Given the description of an element on the screen output the (x, y) to click on. 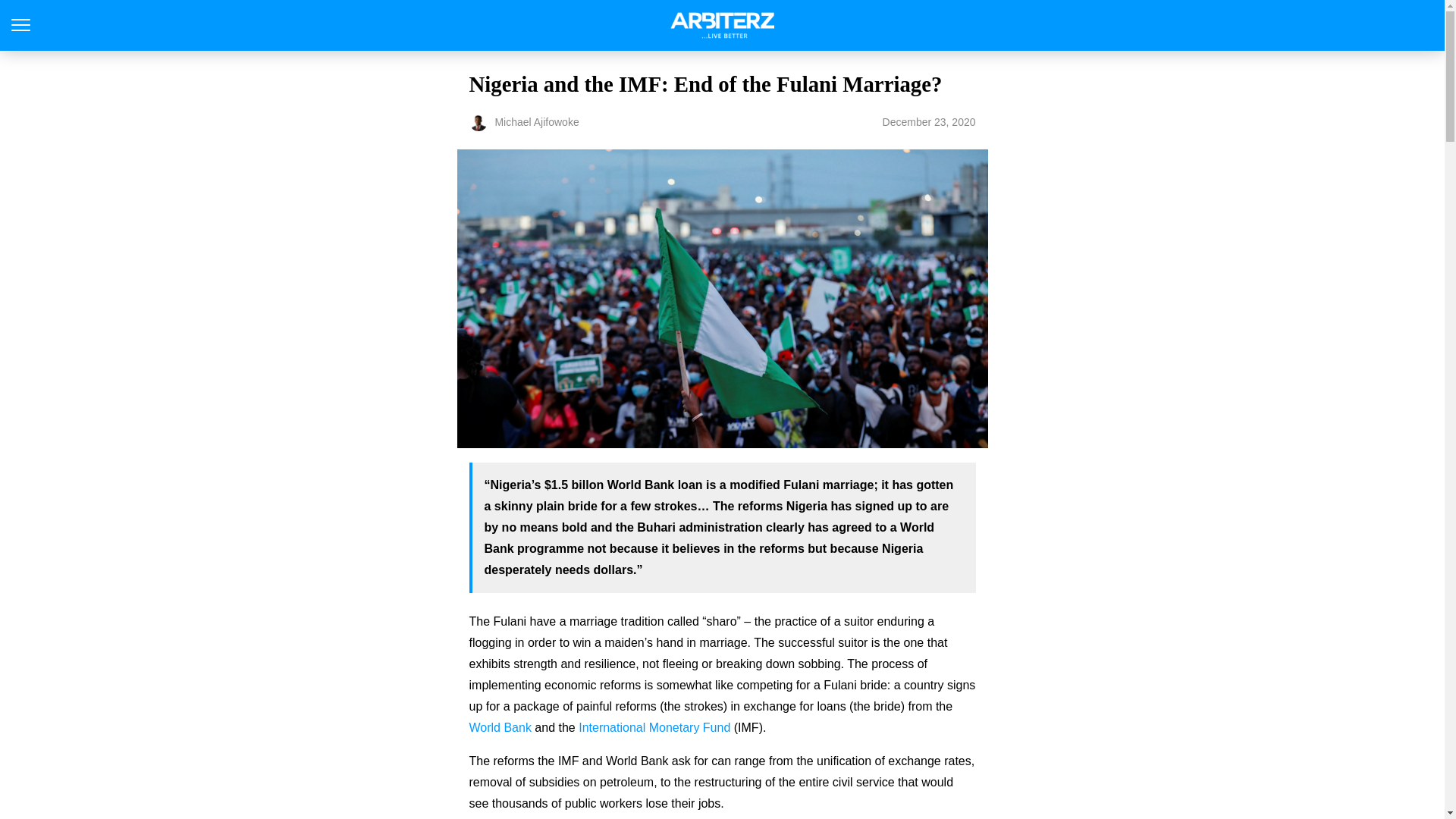
Arbiterz (721, 25)
World Bank (499, 727)
International Monetary Fund (654, 727)
